Given the description of an element on the screen output the (x, y) to click on. 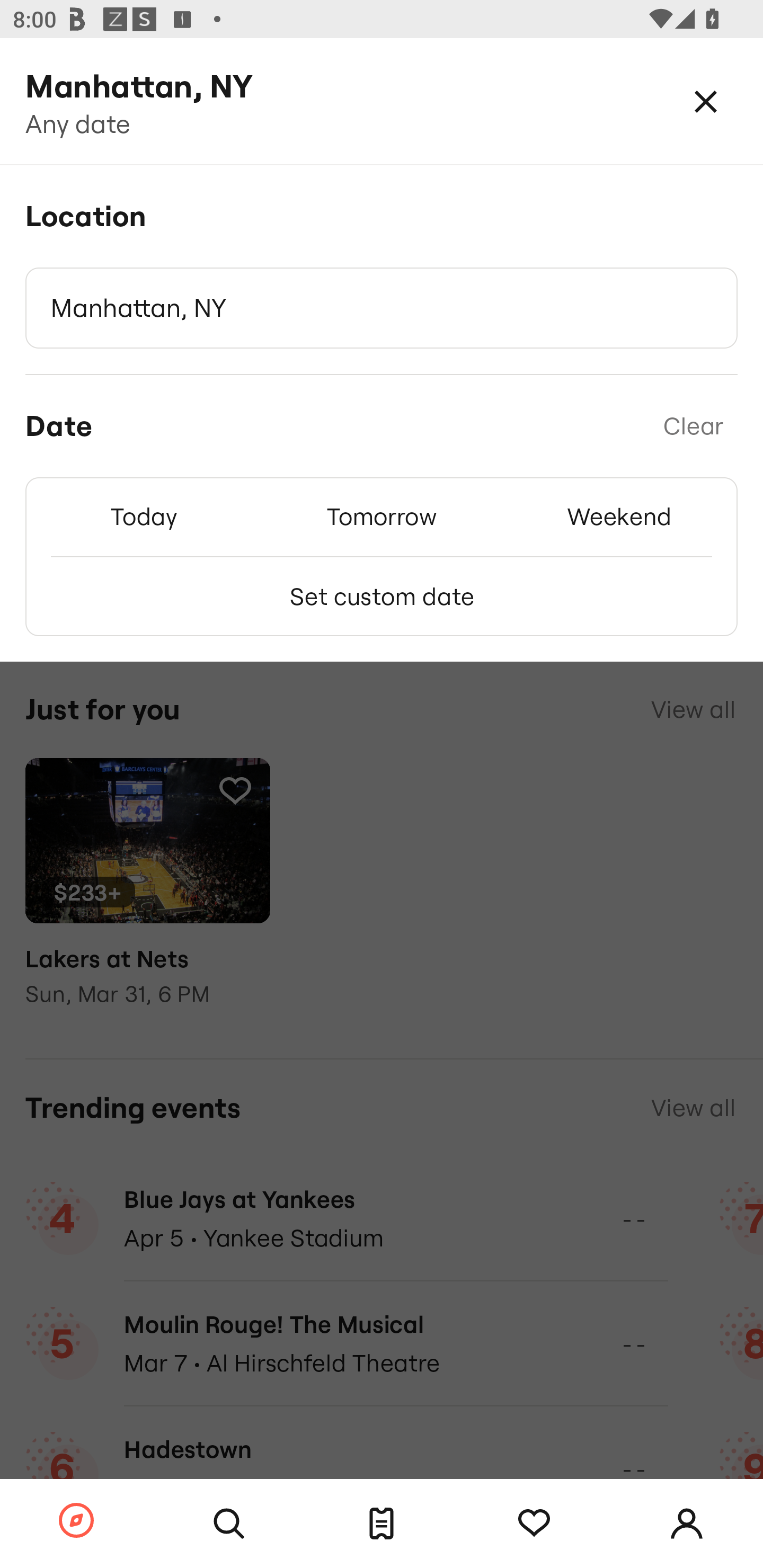
Close (705, 100)
Manhattan, NY (381, 308)
Clear (693, 426)
Today (143, 516)
Tomorrow (381, 516)
Weekend (618, 516)
Set custom date (381, 596)
Browse (76, 1521)
Search (228, 1523)
Tickets (381, 1523)
Tracking (533, 1523)
Account (686, 1523)
